Given the description of an element on the screen output the (x, y) to click on. 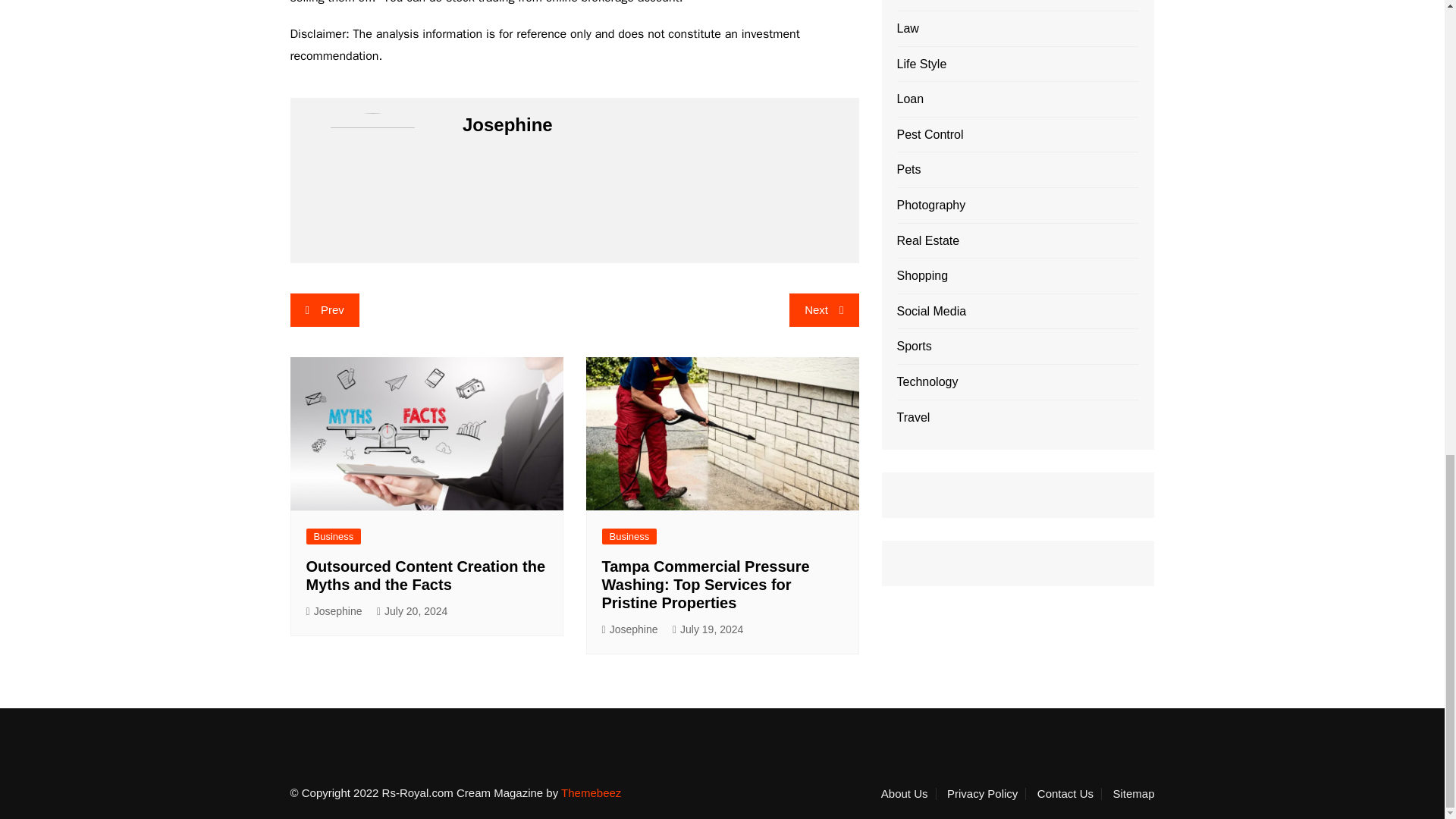
July 20, 2024 (411, 610)
July 19, 2024 (707, 629)
Outsourced Content Creation the Myths and the Facts (425, 574)
Business (630, 536)
Next (824, 309)
Prev (323, 309)
Josephine (630, 629)
Business (333, 536)
Josephine (333, 610)
